Given the description of an element on the screen output the (x, y) to click on. 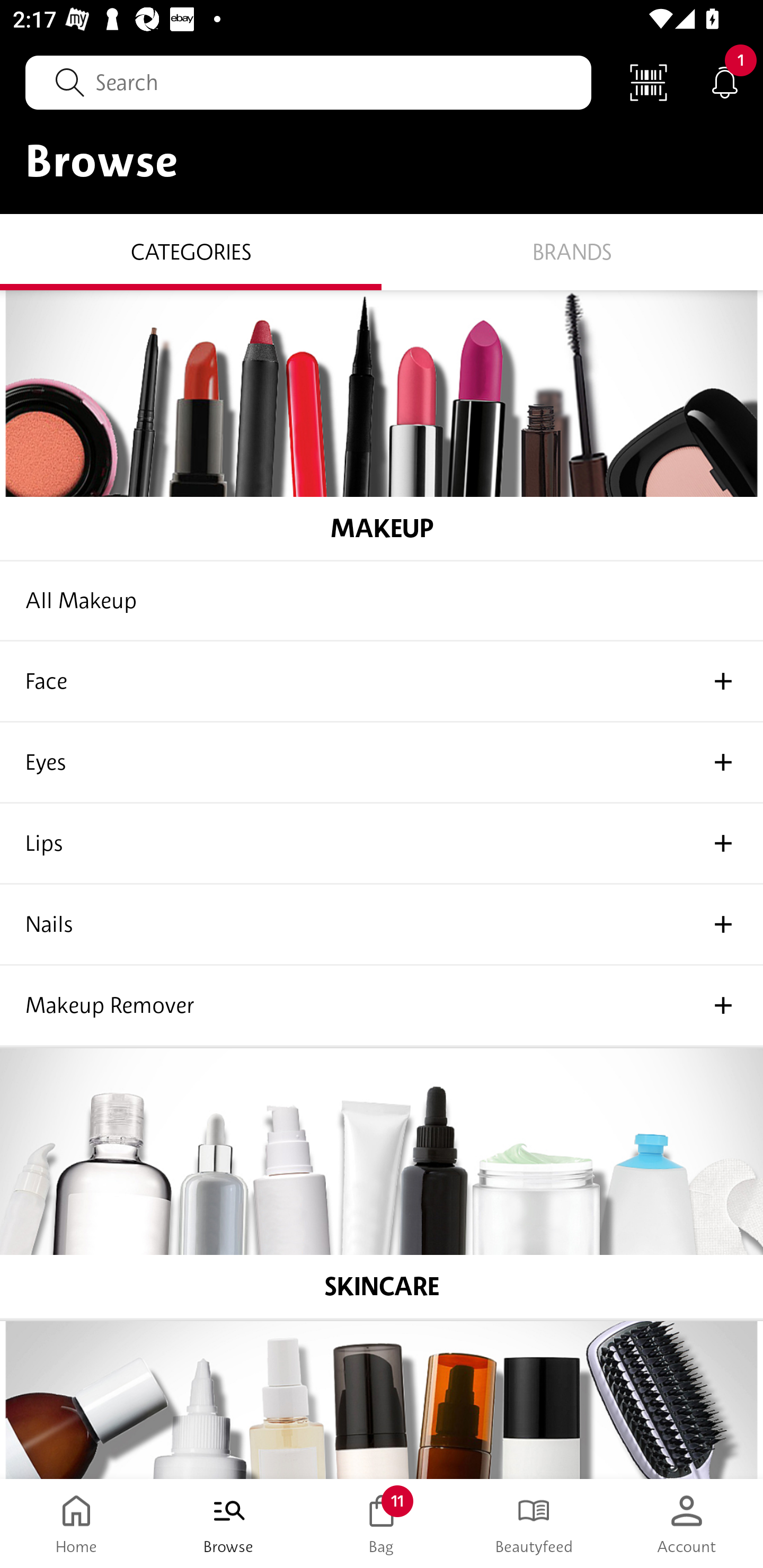
Scan Code (648, 81)
Notifications (724, 81)
Search (308, 81)
Brands BRANDS (572, 251)
All Makeup (381, 601)
Face (381, 681)
Eyes (381, 762)
Lips (381, 843)
Nails (381, 924)
Makeup Remover (381, 1006)
SKINCARE (381, 1184)
Home (76, 1523)
Bag 11 Bag (381, 1523)
Beautyfeed (533, 1523)
Account (686, 1523)
